Given the description of an element on the screen output the (x, y) to click on. 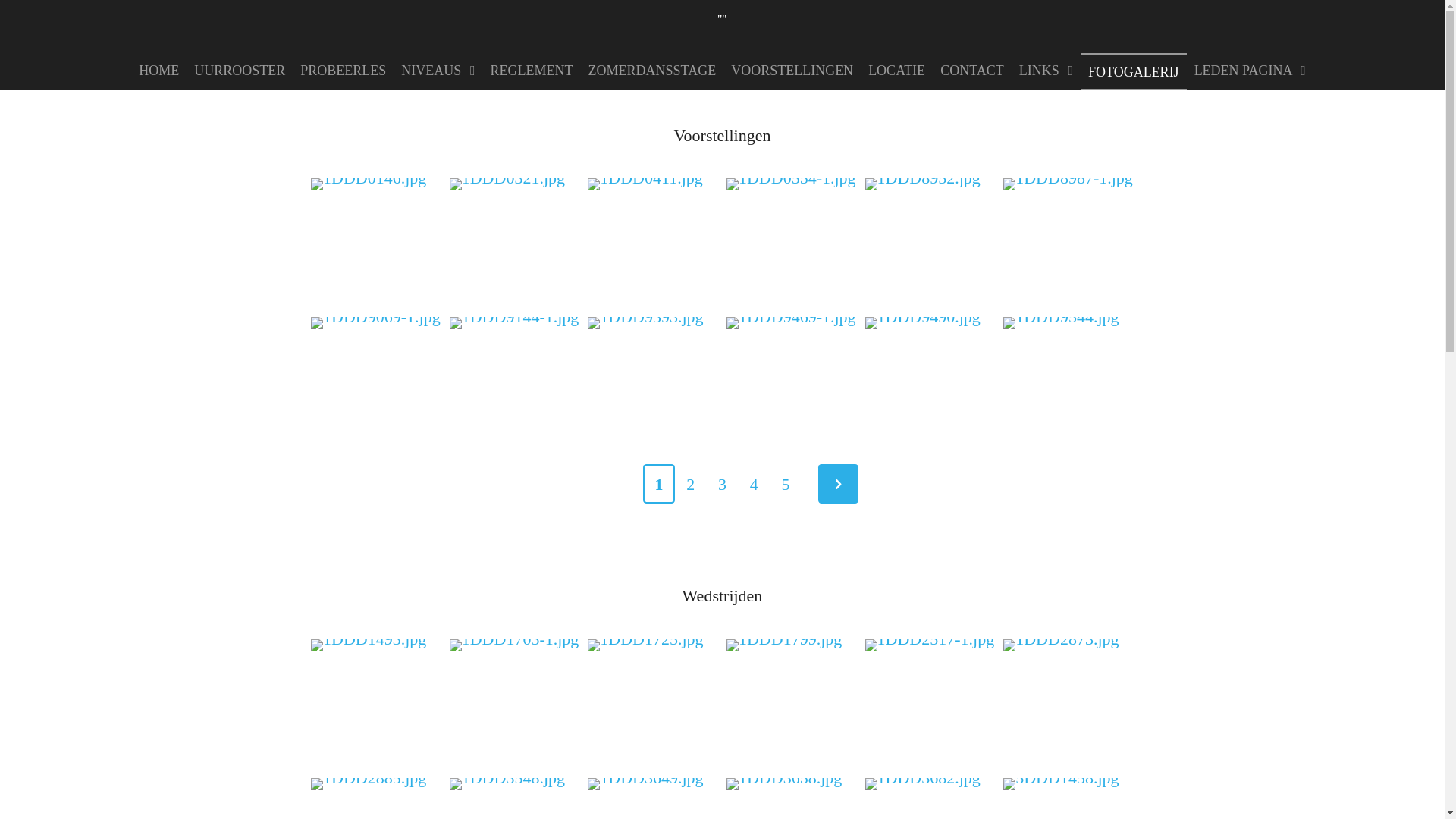
VOORSTELLINGEN Element type: text (791, 70)
1 Element type: text (658, 484)
LEDEN PAGINA Element type: text (1249, 70)
4 Element type: text (753, 484)
LINKS Element type: text (1045, 70)
UURROOSTER Element type: text (239, 70)
ZOMERDANSSTAGE Element type: text (652, 70)
FOTOGALERIJ Element type: text (1133, 71)
HOME Element type: text (158, 70)
PROBEERLES Element type: text (342, 70)
NIVEAUS Element type: text (437, 70)
5 Element type: text (785, 484)
LOCATIE Element type: text (896, 70)
REGLEMENT Element type: text (531, 70)
''" Element type: text (721, 14)
CONTACT Element type: text (971, 70)
2 Element type: text (690, 484)
3 Element type: text (722, 484)
Volgende pagina Element type: hover (838, 484)
